Given the description of an element on the screen output the (x, y) to click on. 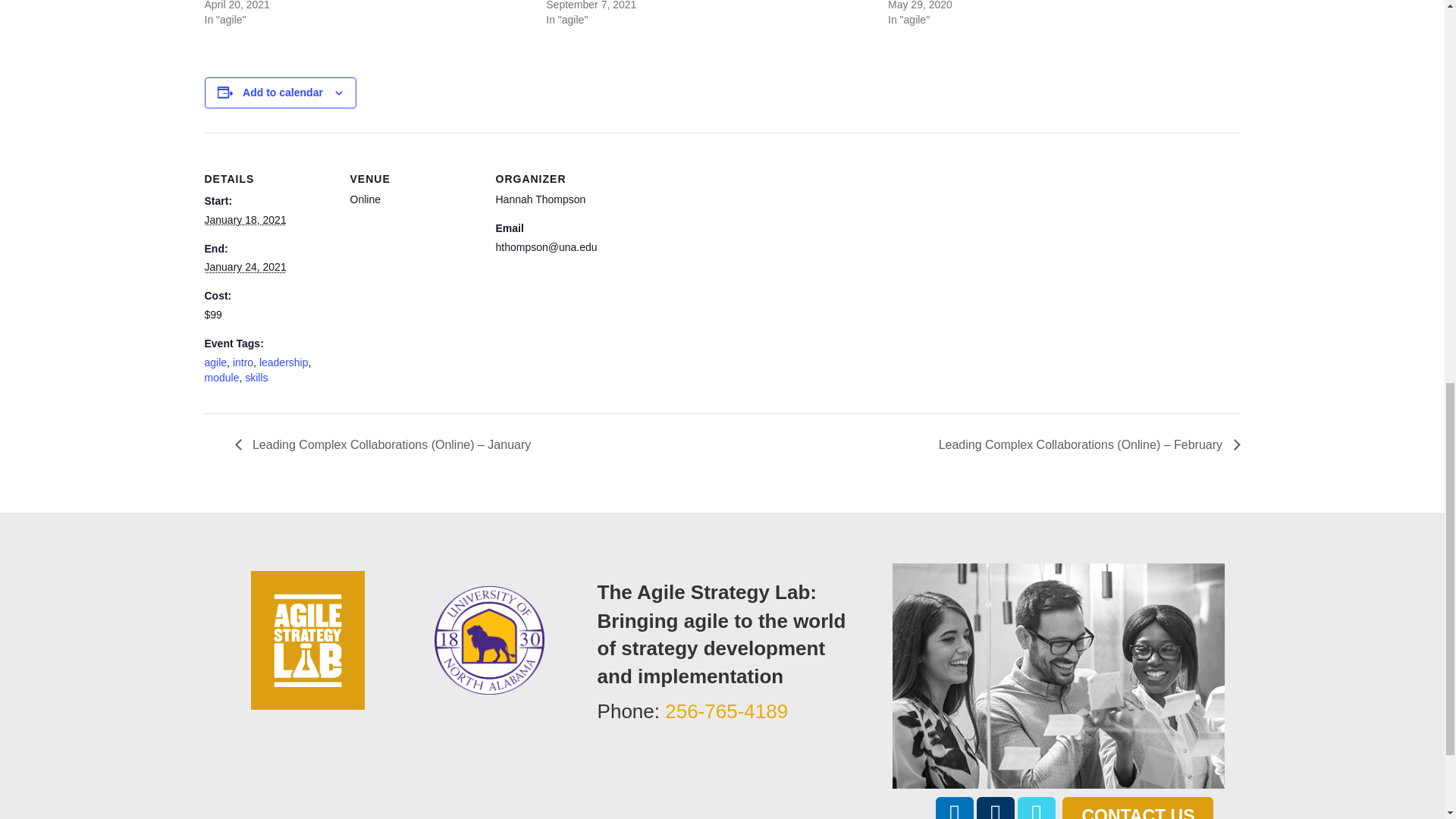
2021-01-24 (245, 266)
UNA-roundLionPurpleW (488, 640)
2021-01-18 (245, 219)
